Given the description of an element on the screen output the (x, y) to click on. 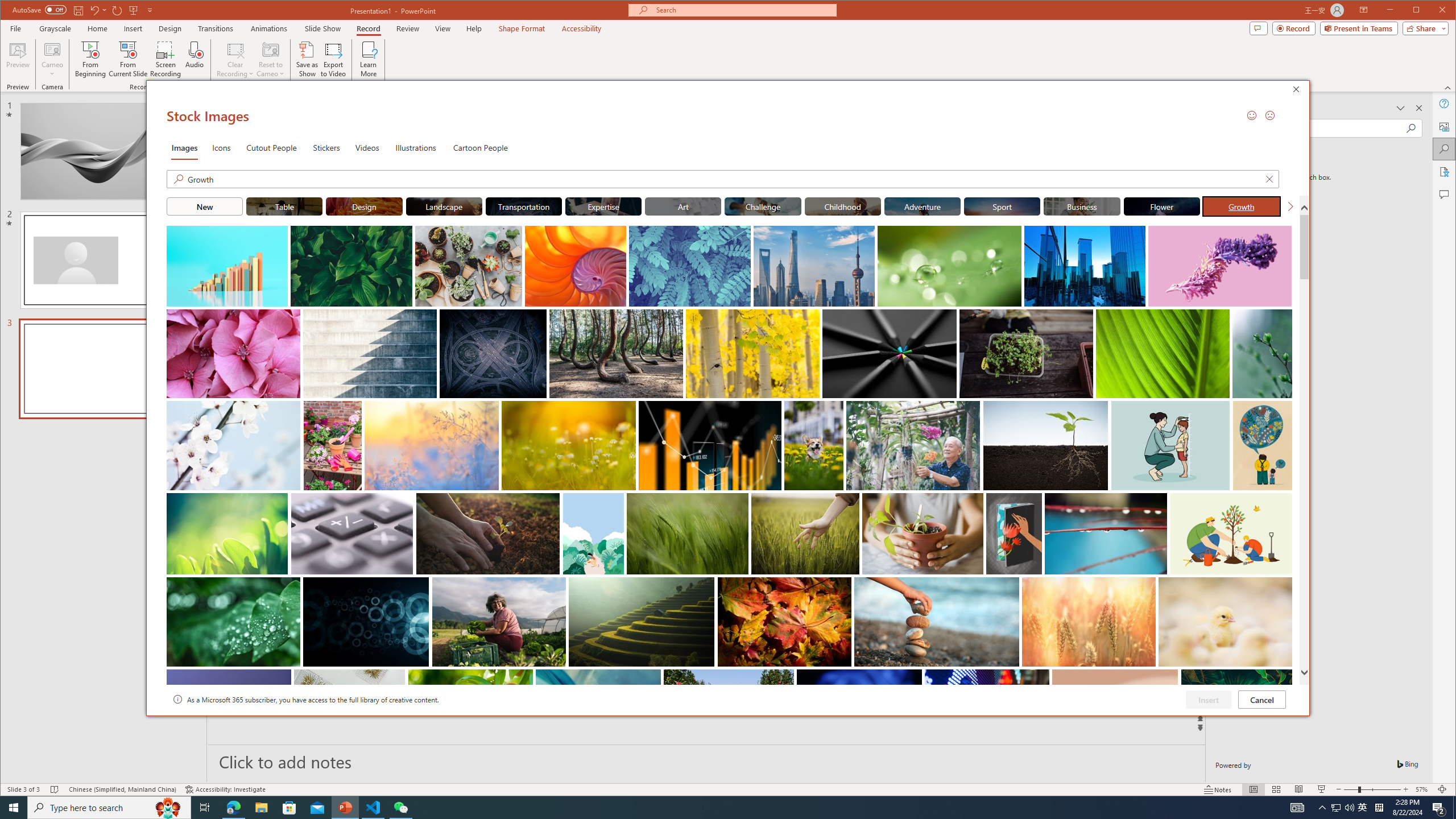
Cancel (1261, 699)
Share (1422, 27)
"Adventure" Stock Images. (921, 206)
Cameo (52, 59)
Spell Check No Errors (55, 789)
File Tab (15, 27)
Customize Quick Access Toolbar (150, 9)
"Transportation" Stock Images. (524, 206)
Home (97, 28)
Reading View (1298, 789)
